Given the description of an element on the screen output the (x, y) to click on. 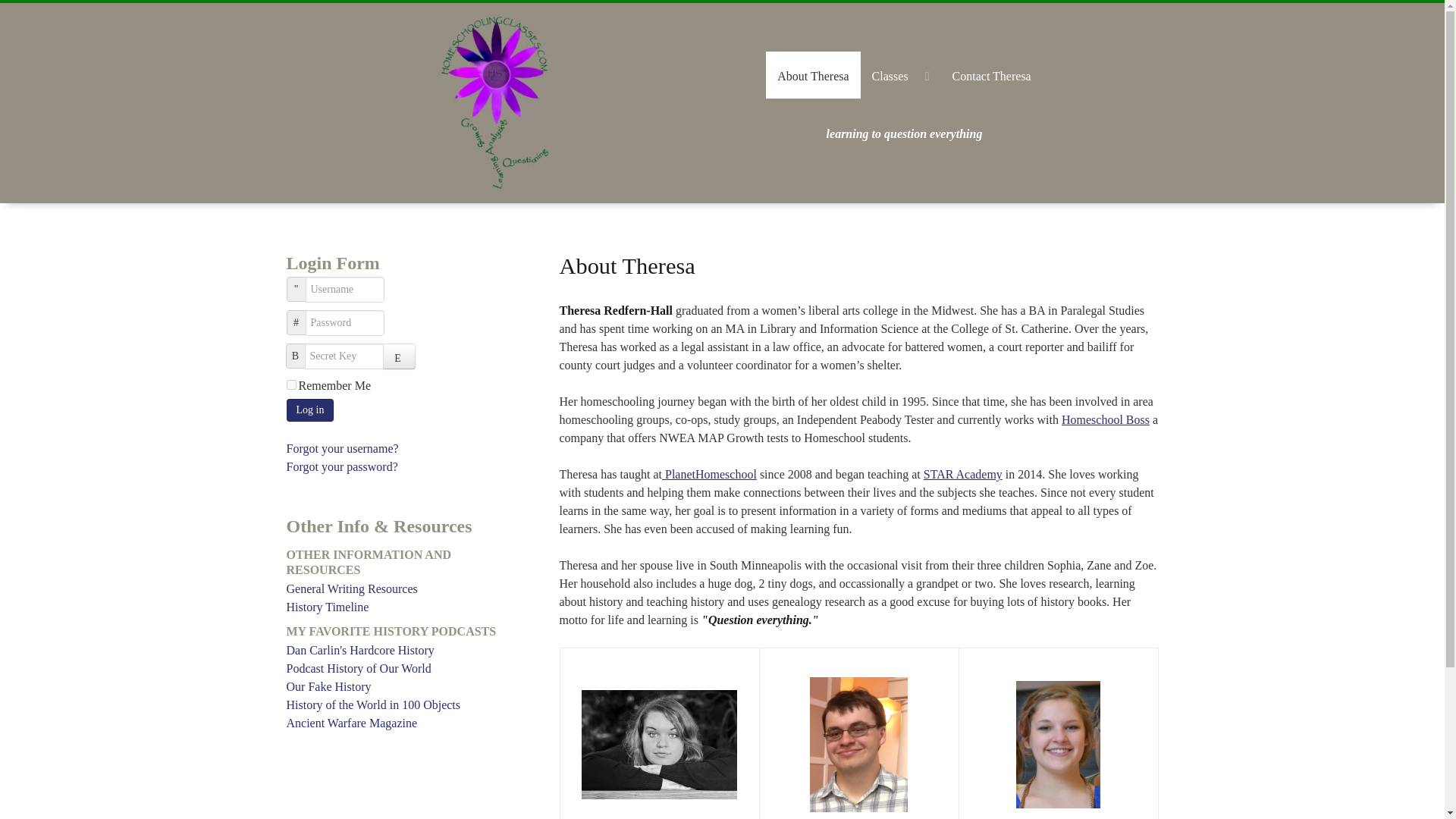
Homeschool Boss (1105, 419)
yes (291, 384)
Our Fake History (403, 687)
Ancient Warfare Magazine (403, 723)
STAR Academy (963, 473)
History of the World in 100 Objects (403, 705)
Dan Carlin's Hardcore History (403, 650)
Forgot your username? (342, 448)
Podcast History of Our World (403, 669)
PlanetHomeschool (711, 473)
Classes (900, 74)
Gantry 5 (494, 102)
About Theresa (812, 74)
About Theresa (812, 74)
Contact Theresa (991, 74)
